Given the description of an element on the screen output the (x, y) to click on. 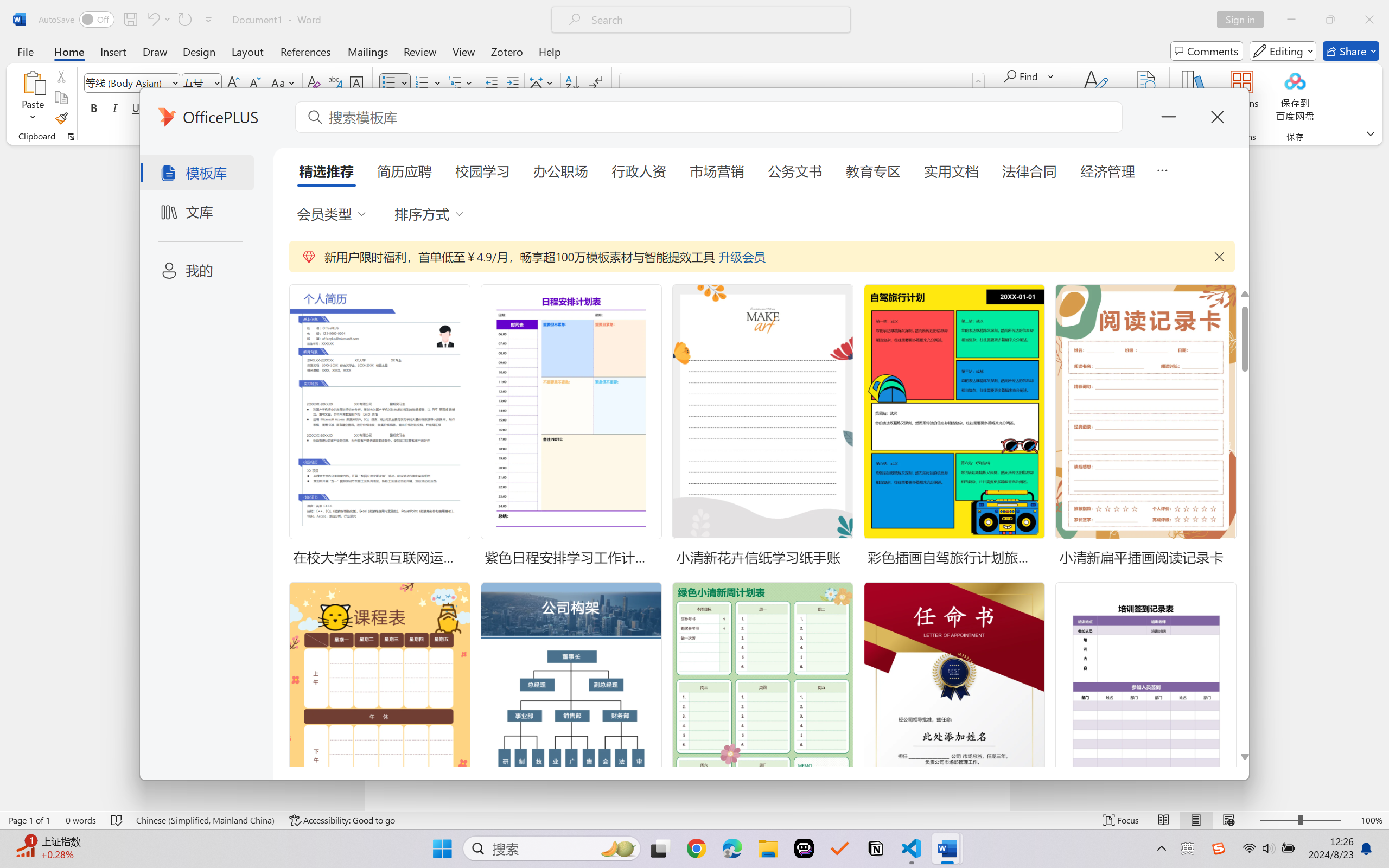
Microsoft Edge (731, 848)
